Given the description of an element on the screen output the (x, y) to click on. 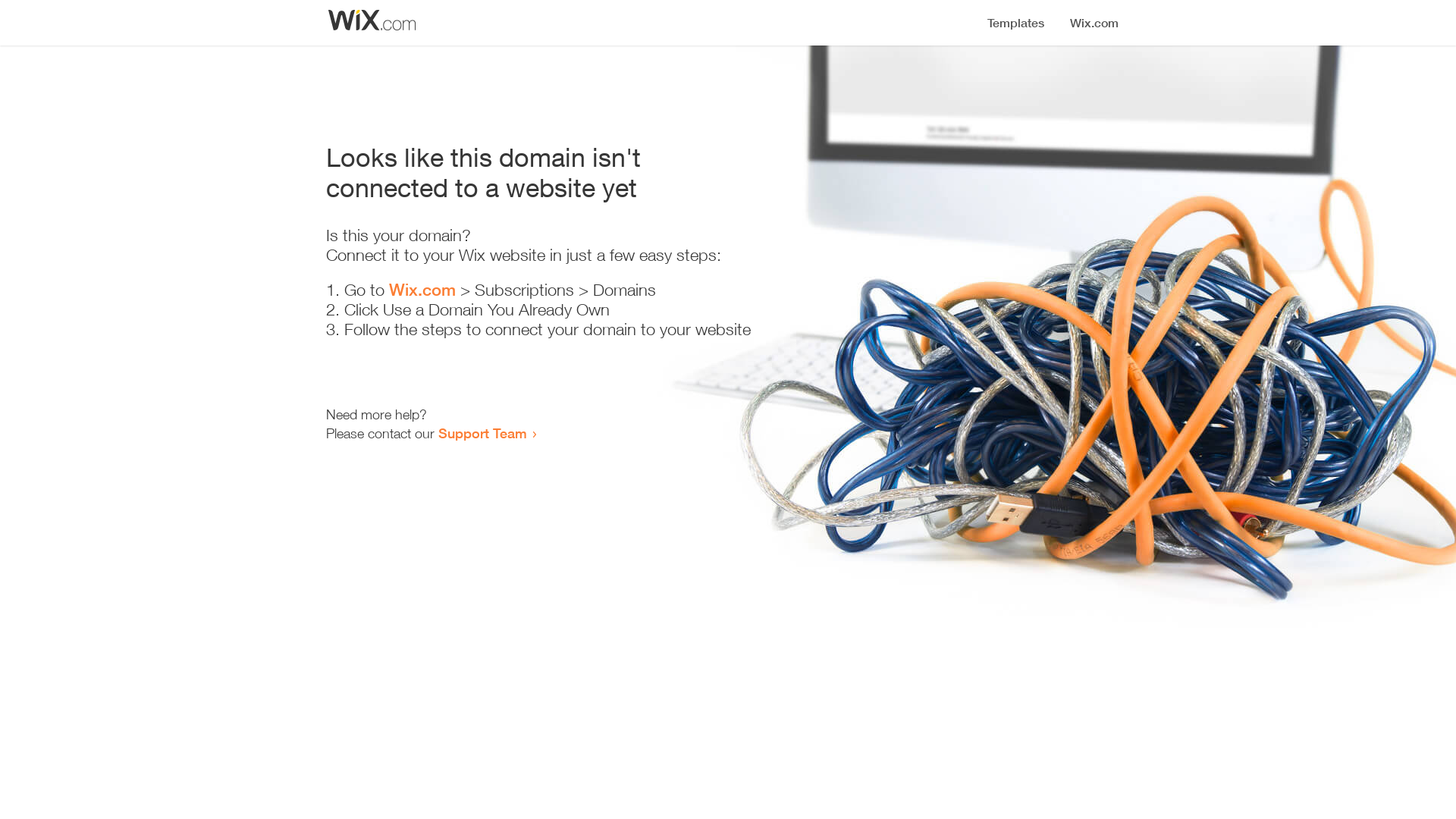
Support Team Element type: text (482, 432)
Wix.com Element type: text (422, 289)
